Given the description of an element on the screen output the (x, y) to click on. 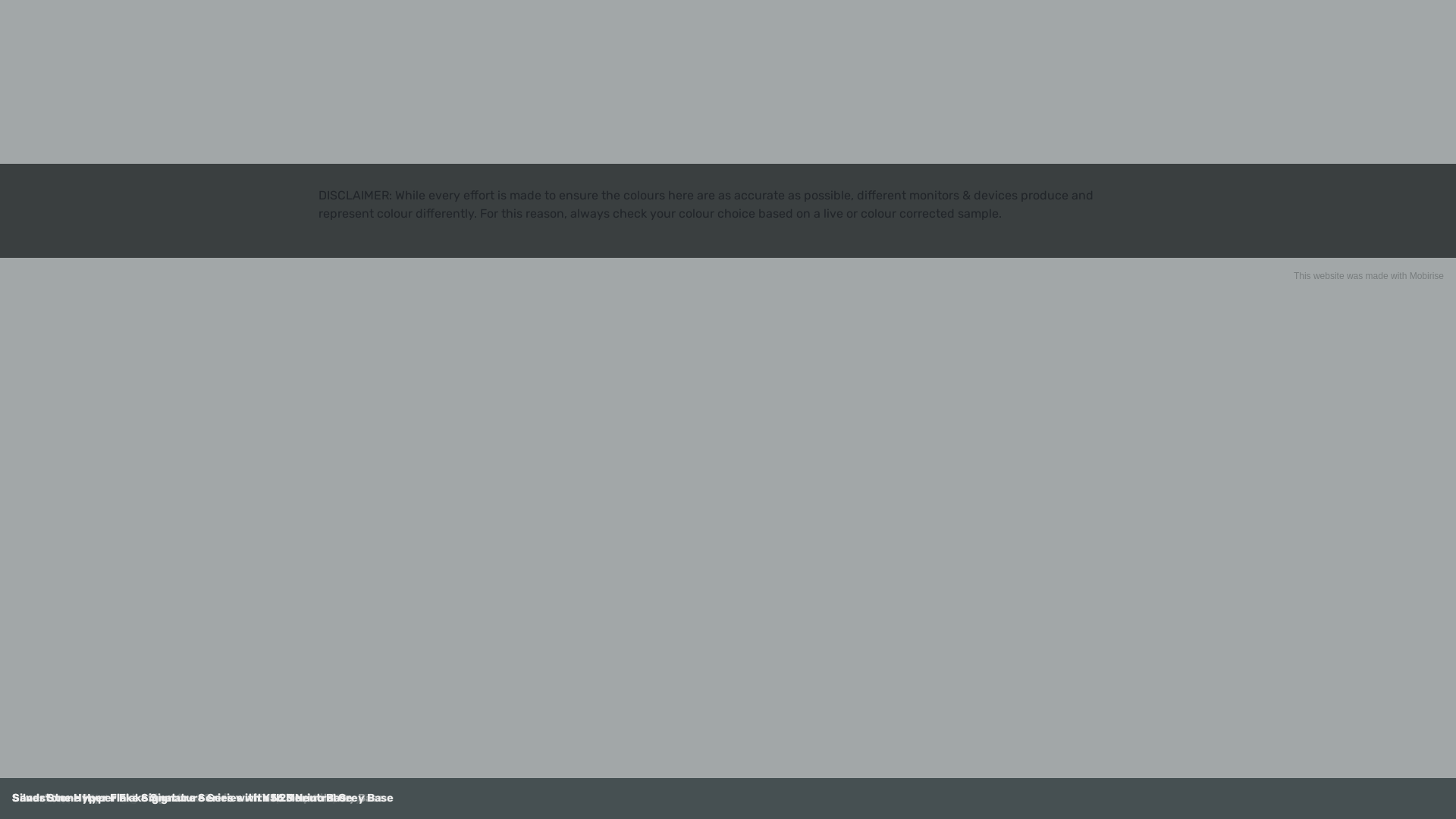
This Element type: text (1302, 275)
